Given the description of an element on the screen output the (x, y) to click on. 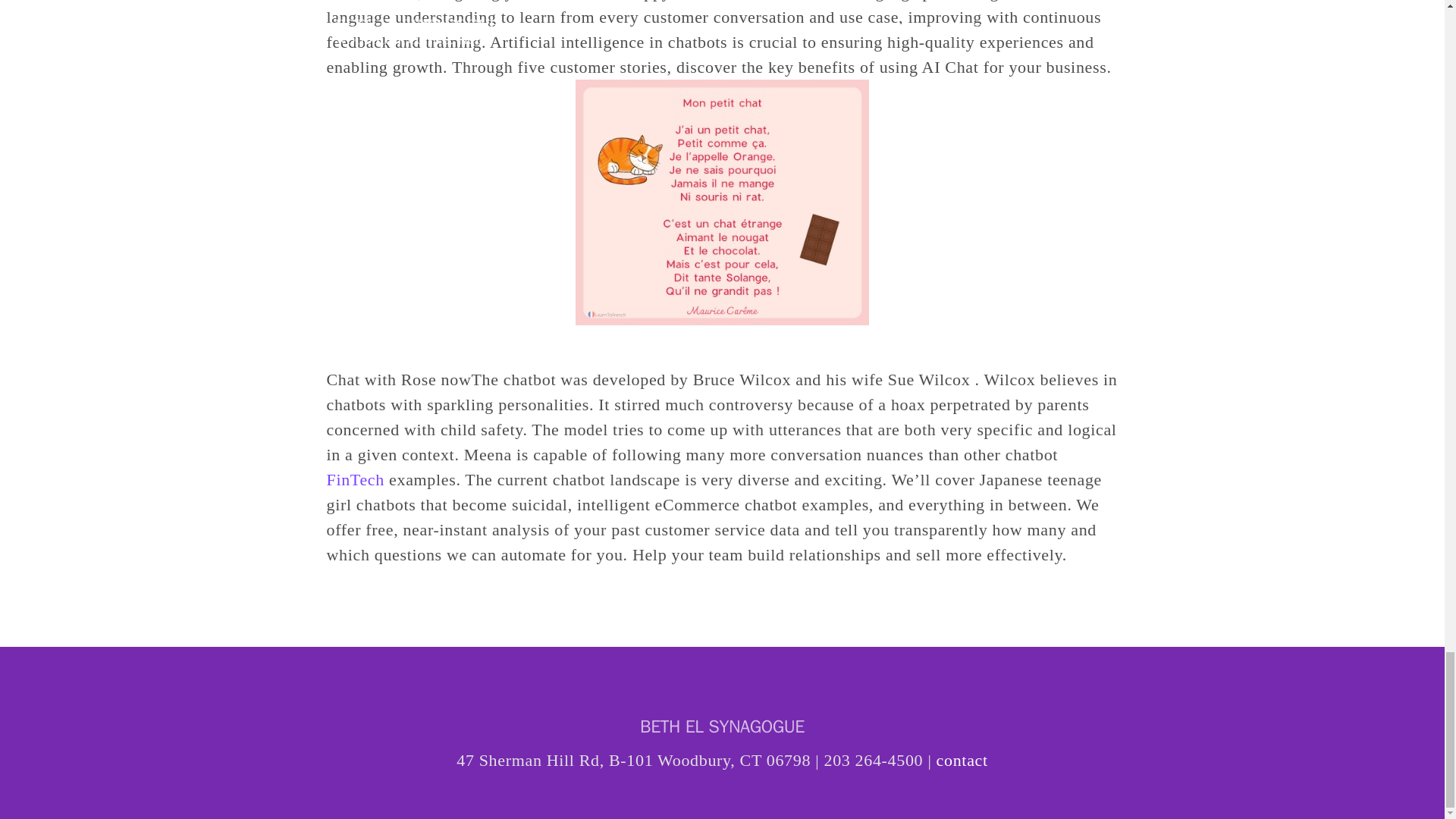
contact (962, 760)
FinTech (355, 479)
